Given the description of an element on the screen output the (x, y) to click on. 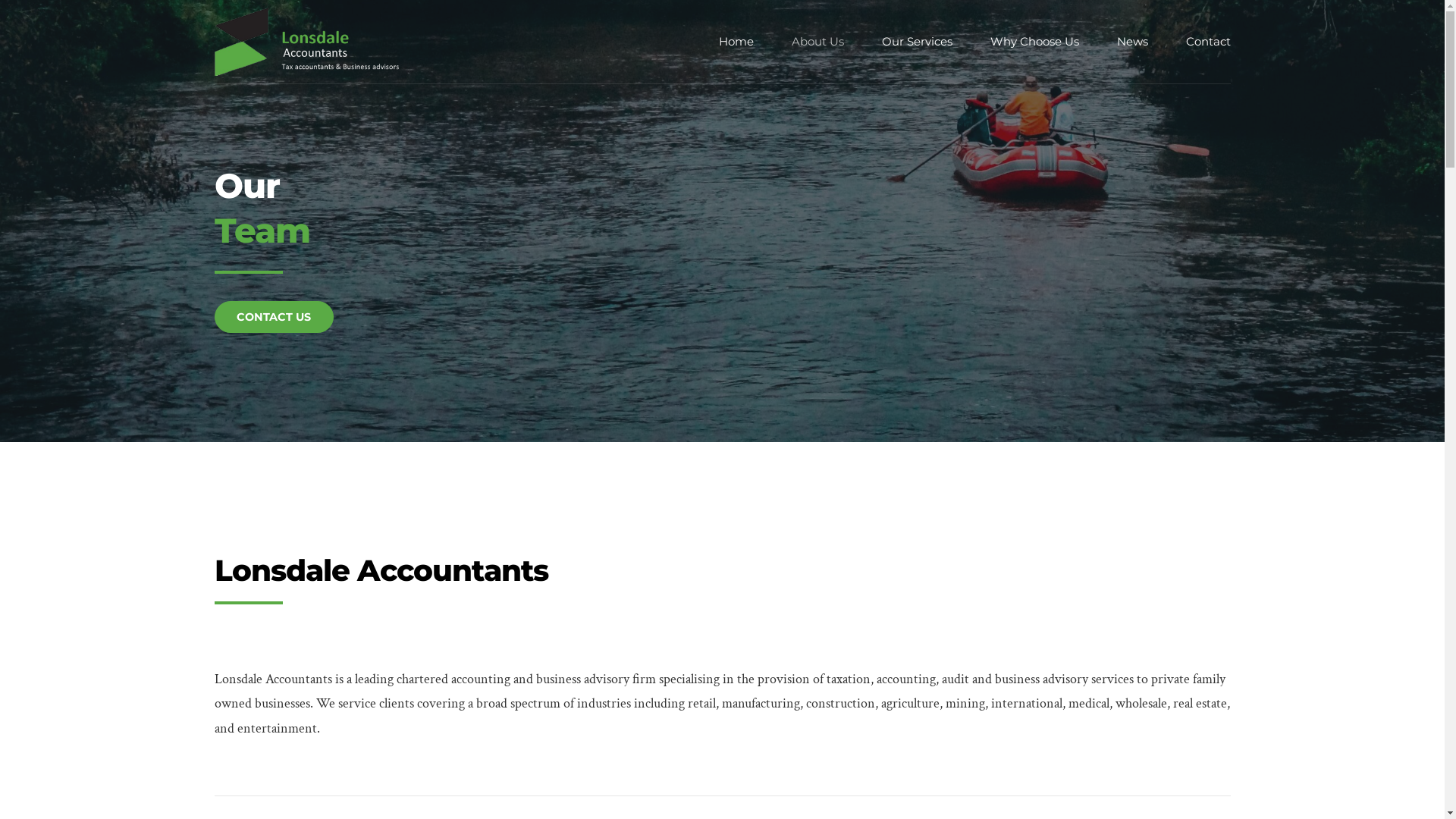
Contact Element type: text (1208, 41)
CONTACT US Element type: text (273, 316)
Why Choose Us Element type: text (1034, 41)
About Us Element type: text (817, 41)
Home Element type: text (735, 41)
News Element type: text (1131, 41)
Our Services Element type: text (916, 41)
